Given the description of an element on the screen output the (x, y) to click on. 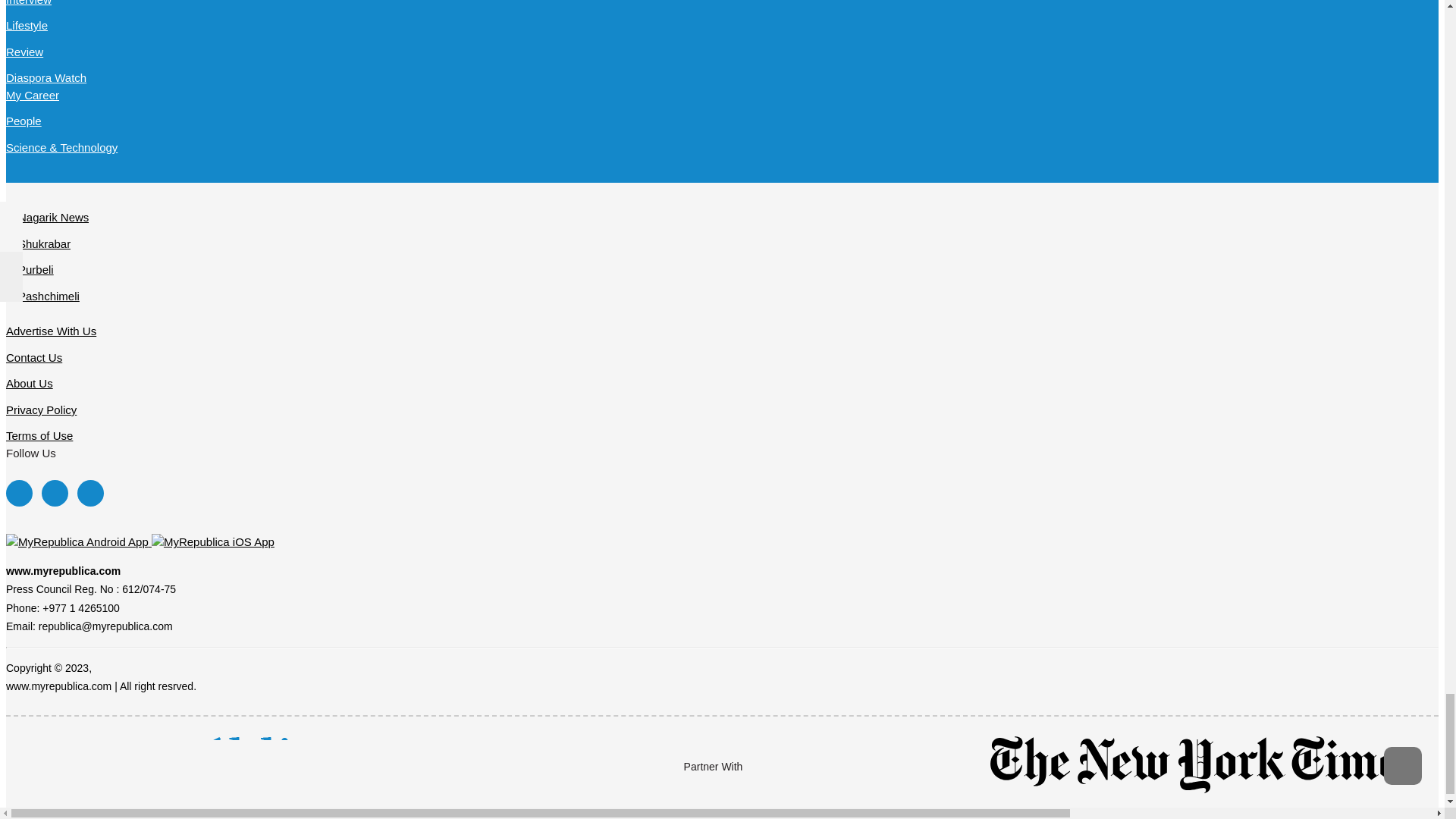
Youtube (90, 492)
Twitter (55, 492)
Facebook (18, 492)
